Given the description of an element on the screen output the (x, y) to click on. 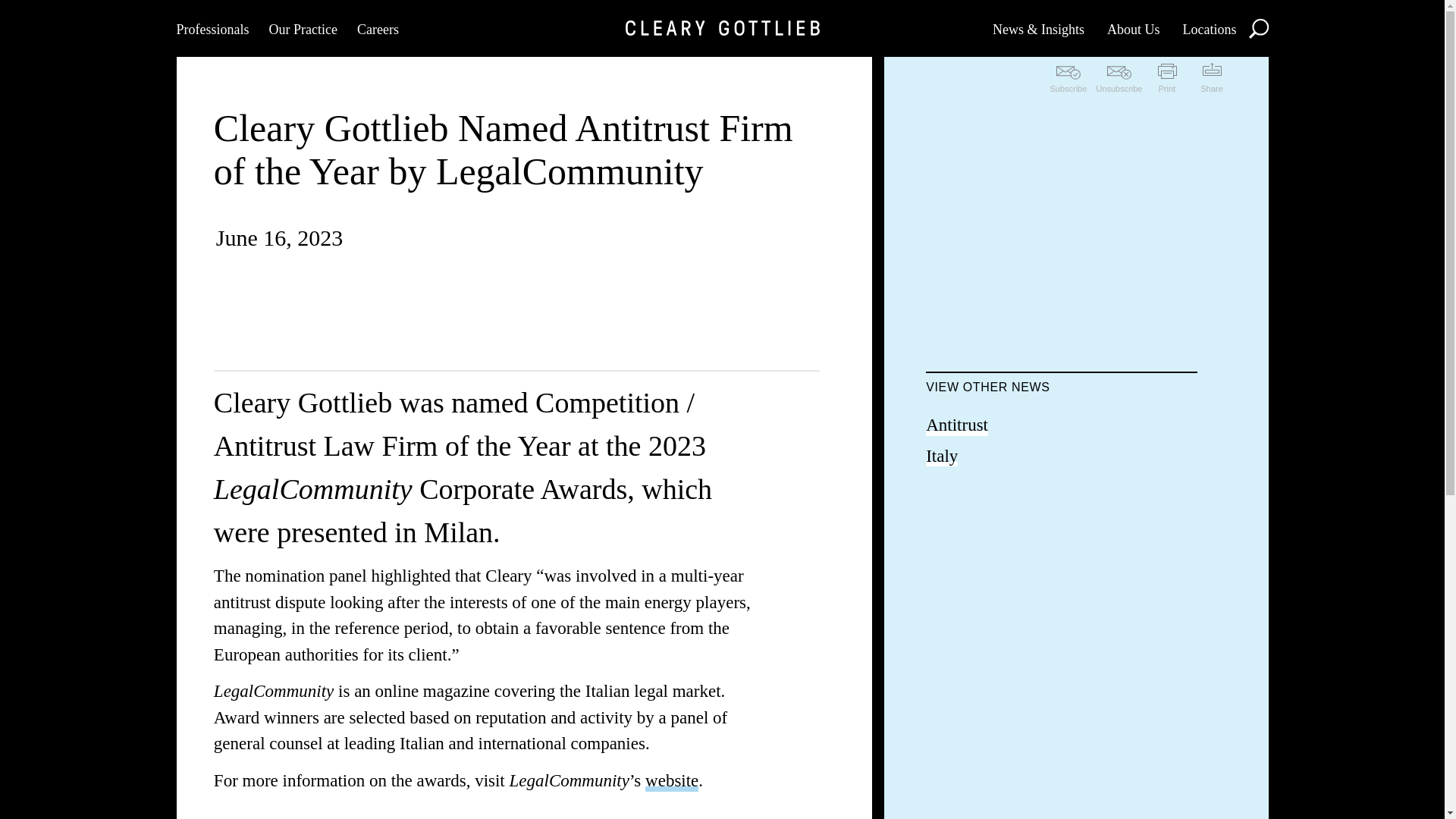
About Us (1133, 28)
Home (721, 28)
Our Practice (301, 28)
Locations (1209, 28)
Professionals (212, 28)
Locations (1209, 28)
About Us (1133, 28)
Professionals (212, 28)
Our Practice (301, 28)
Search (1257, 27)
